Given the description of an element on the screen output the (x, y) to click on. 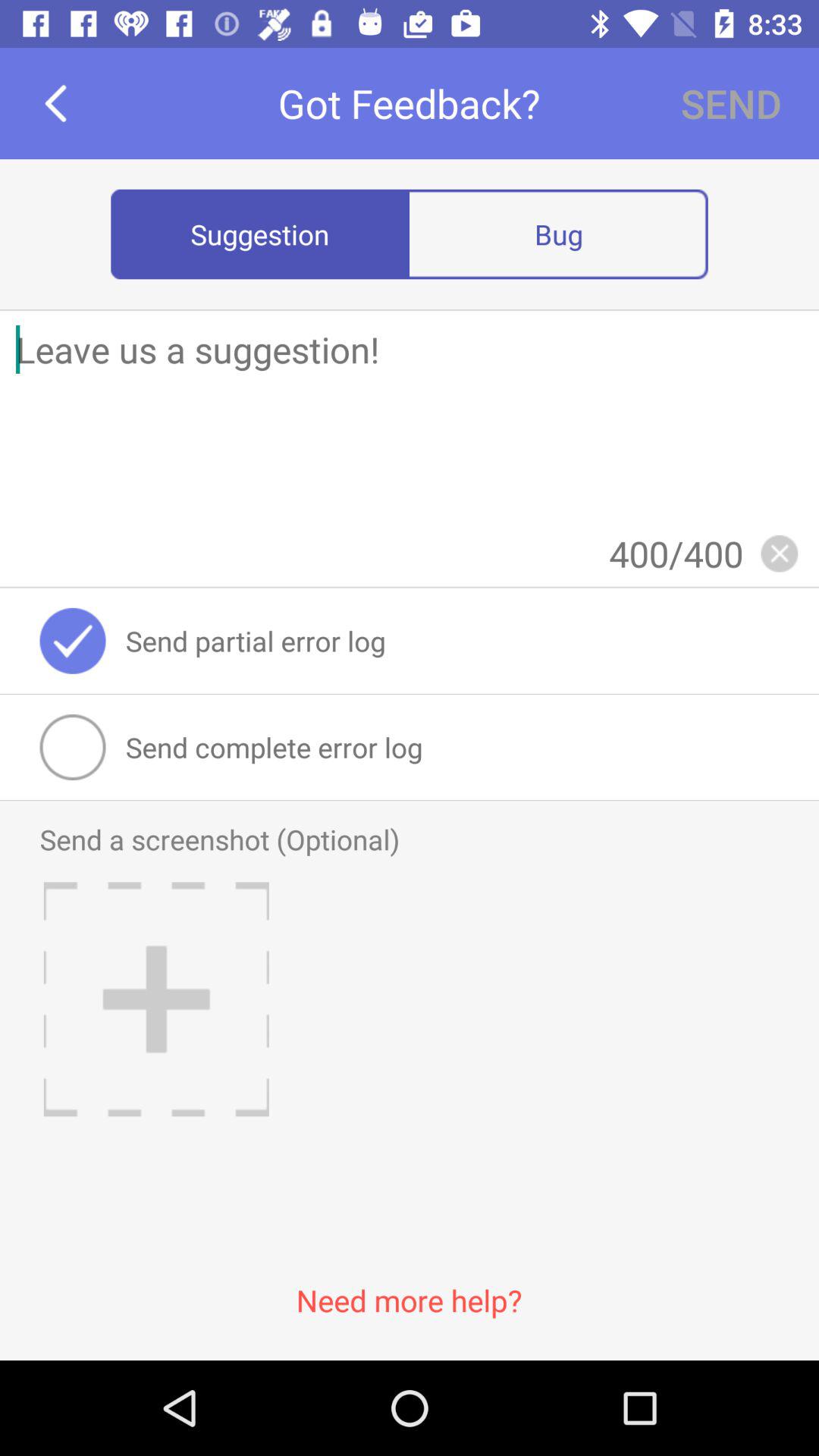
press item above the suggestion radio button (55, 103)
